Given the description of an element on the screen output the (x, y) to click on. 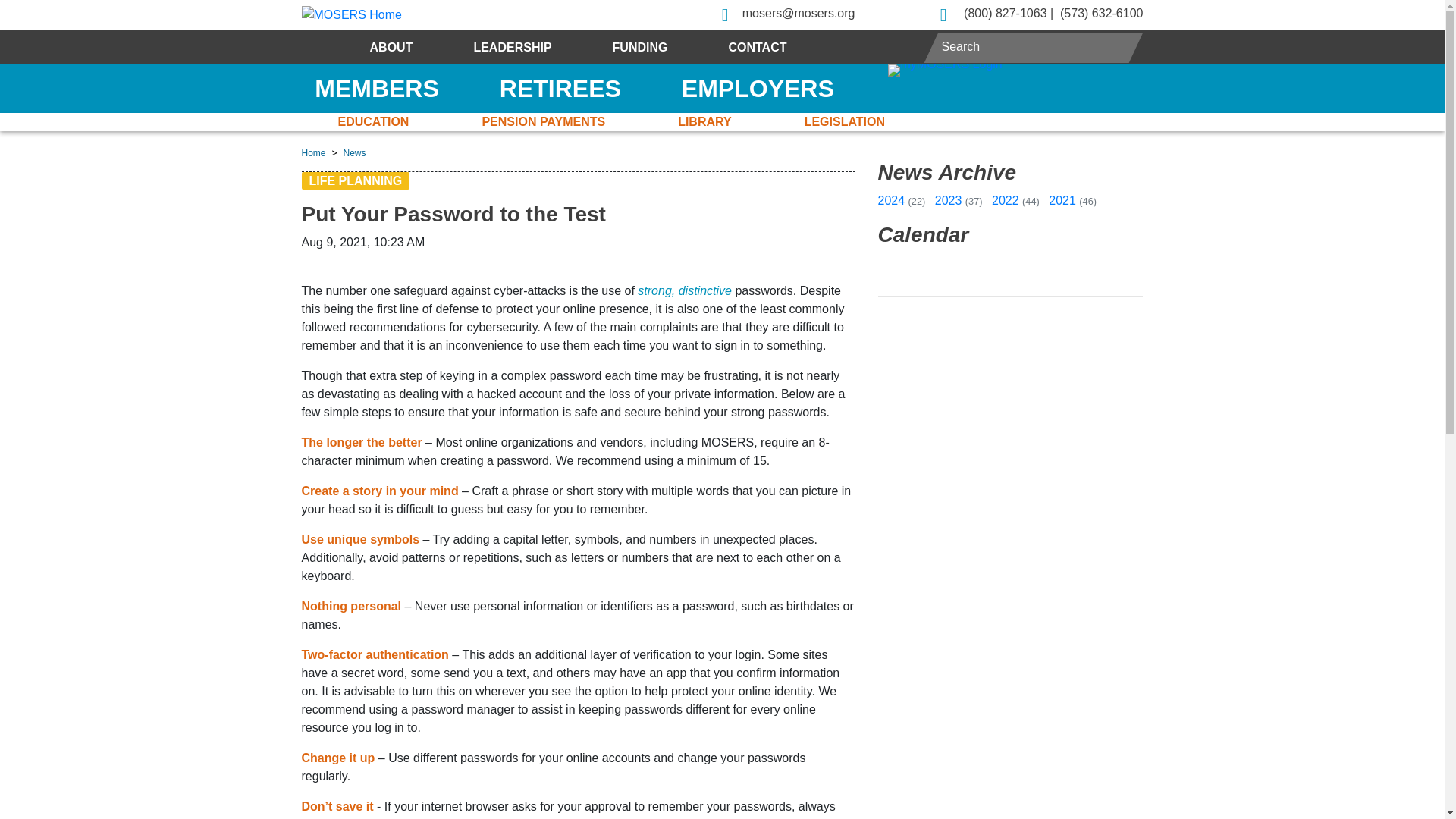
RETIREES (559, 88)
PENSION PAYMENTS (543, 122)
LEADERSHIP (511, 46)
myMOSERS Login (1007, 70)
Search input (1034, 46)
FUNDING (640, 46)
EMPLOYERS (757, 88)
CONTACT (756, 46)
EDUCATION (373, 122)
MOSERS Home (351, 14)
